Given the description of an element on the screen output the (x, y) to click on. 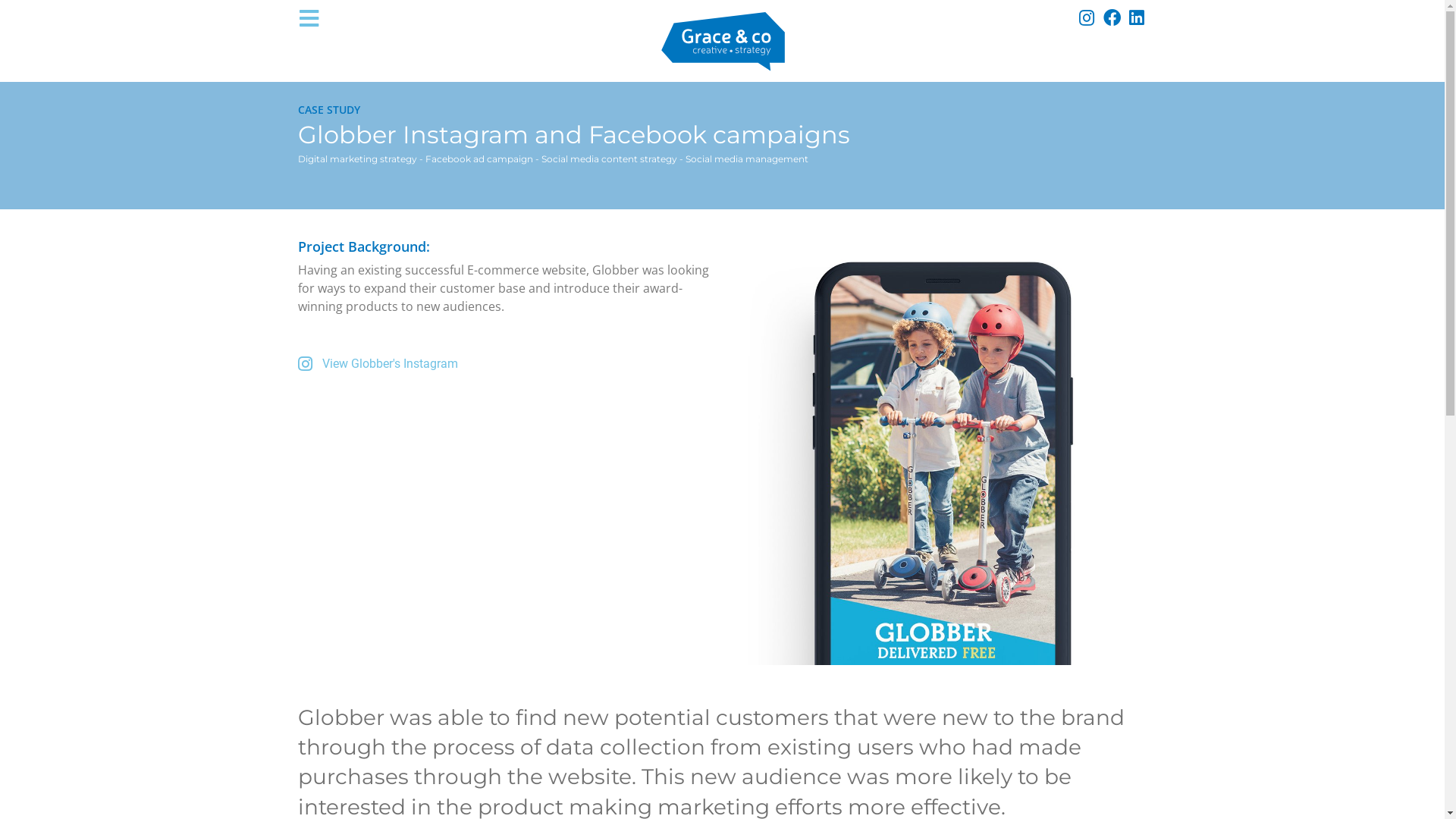
View Globber's Instagram Element type: text (505, 363)
